Given the description of an element on the screen output the (x, y) to click on. 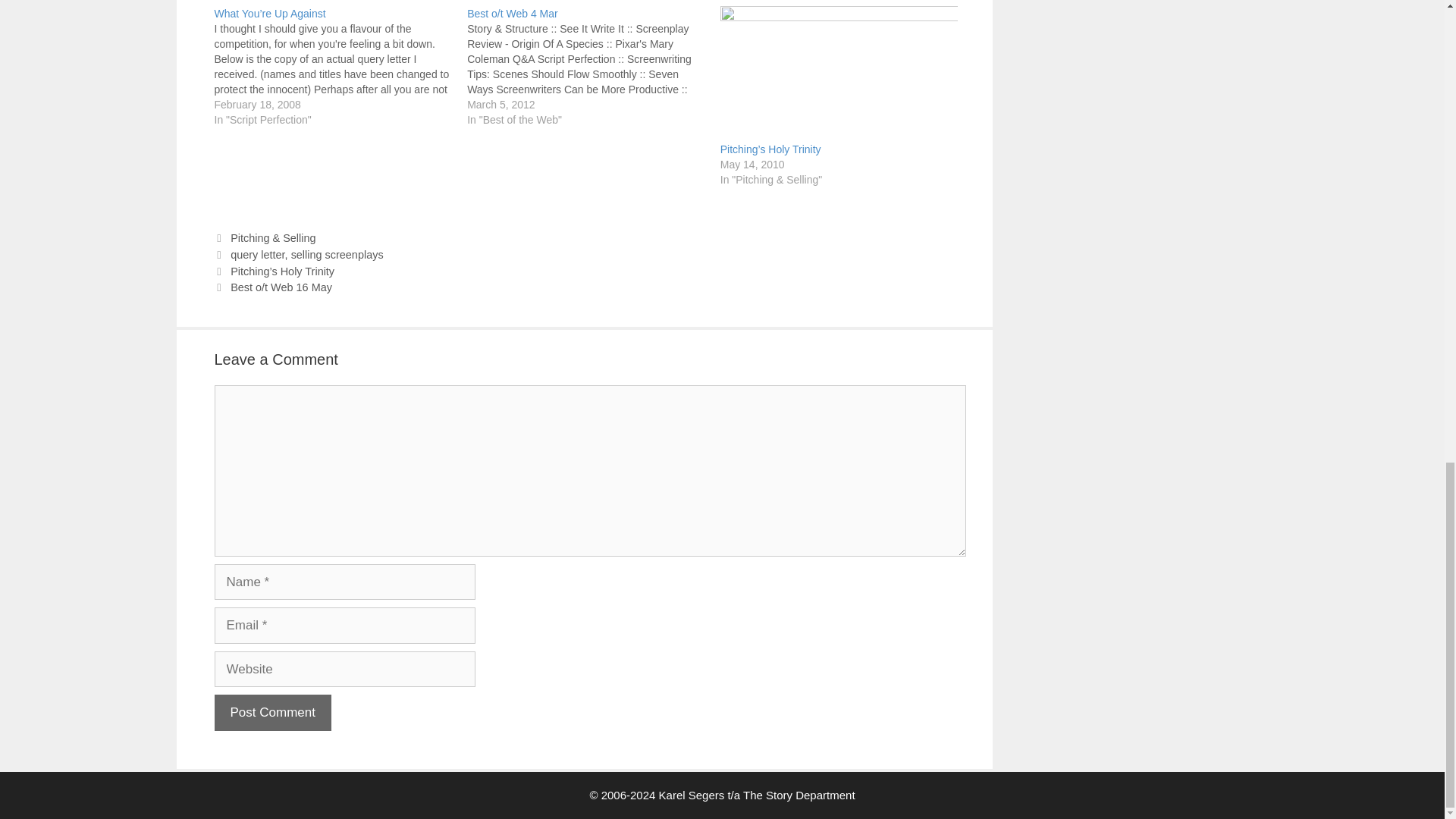
Post Comment (272, 712)
query letter (256, 254)
selling screenplays (337, 254)
Post Comment (272, 712)
